Given the description of an element on the screen output the (x, y) to click on. 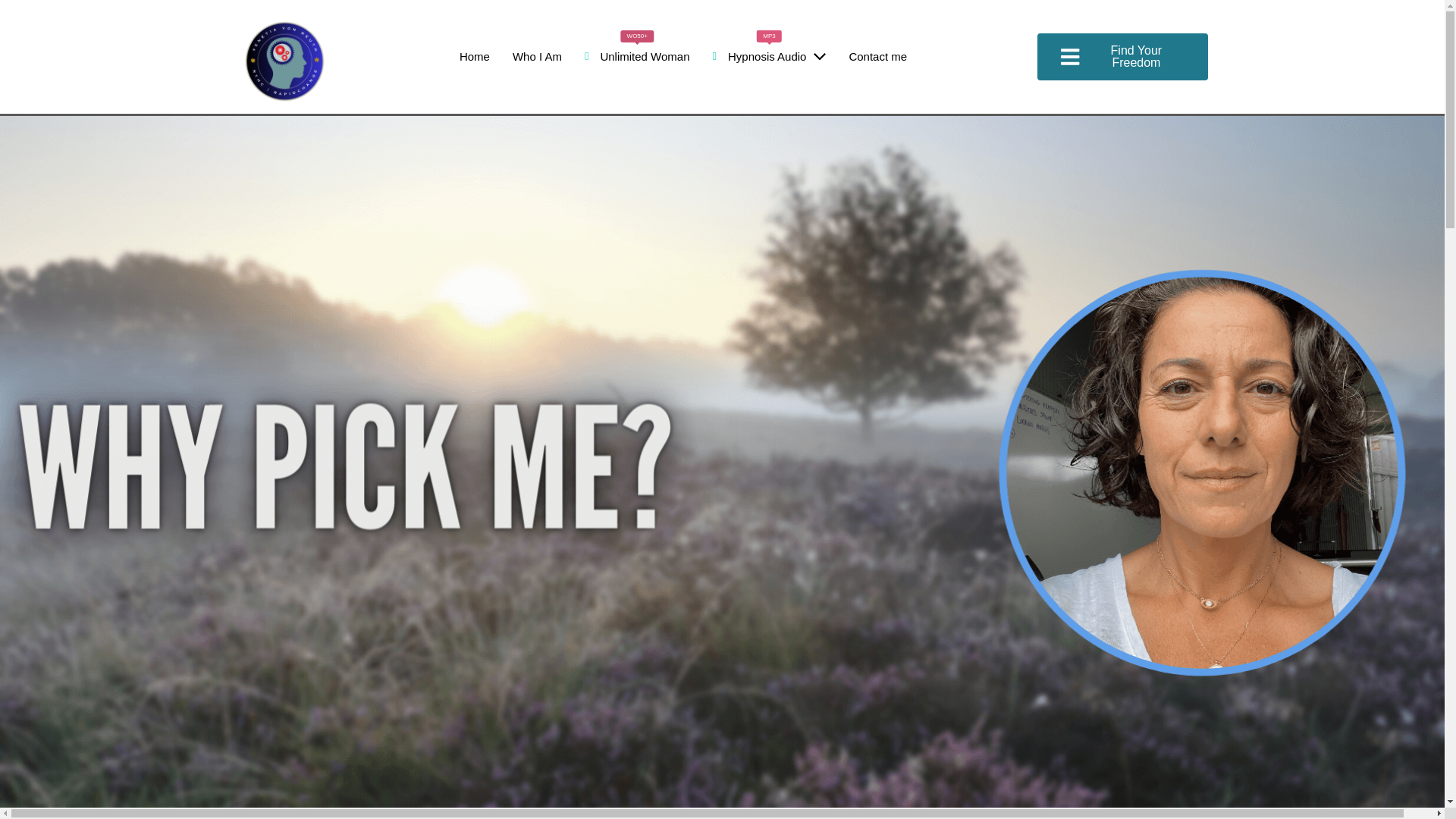
Contact me (877, 56)
Who I Am (769, 56)
